Given the description of an element on the screen output the (x, y) to click on. 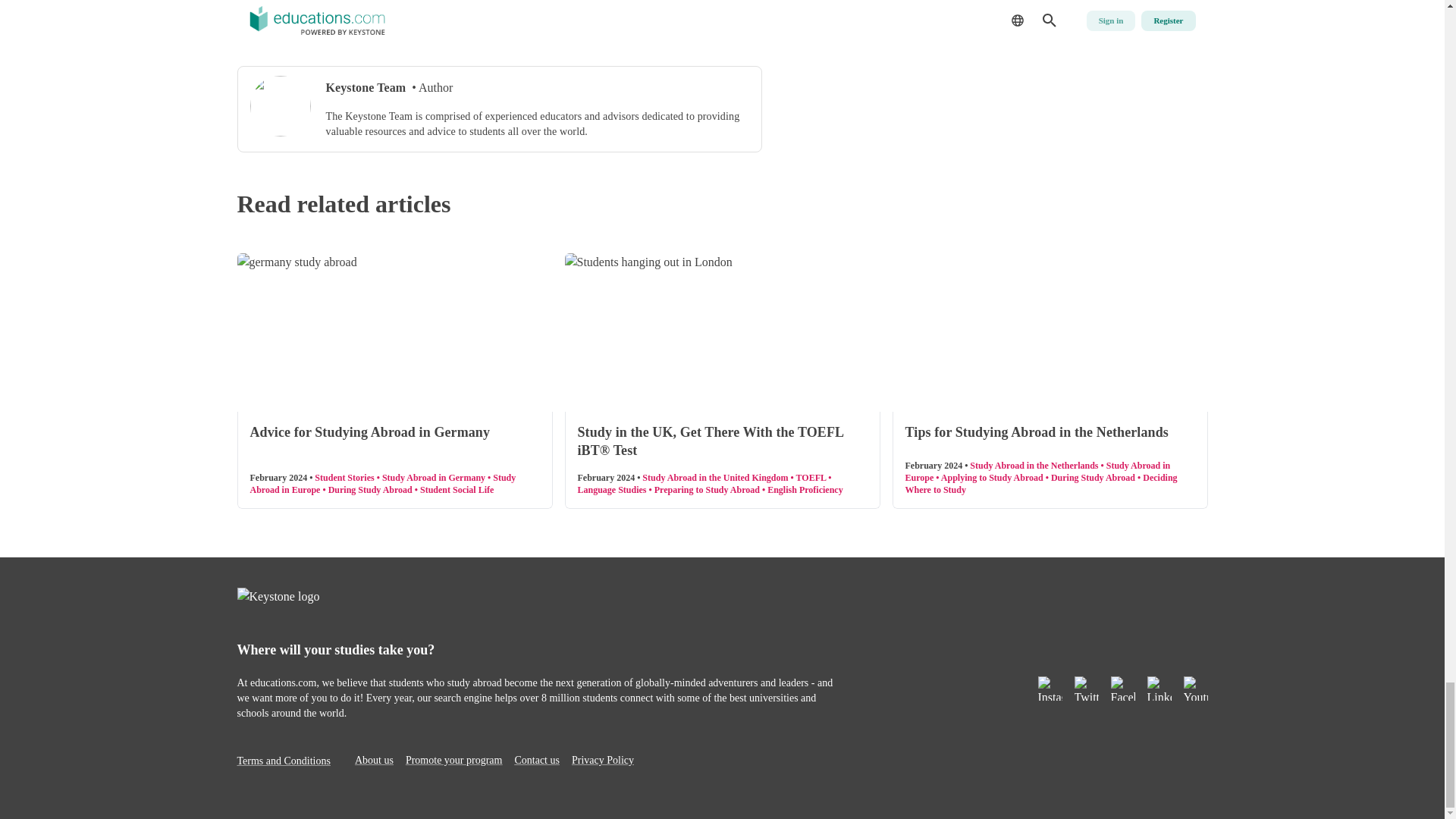
About us (374, 759)
Privacy Policy (602, 759)
Terms and Conditions (282, 760)
Promote your program (454, 759)
Contact us (536, 759)
